Given the description of an element on the screen output the (x, y) to click on. 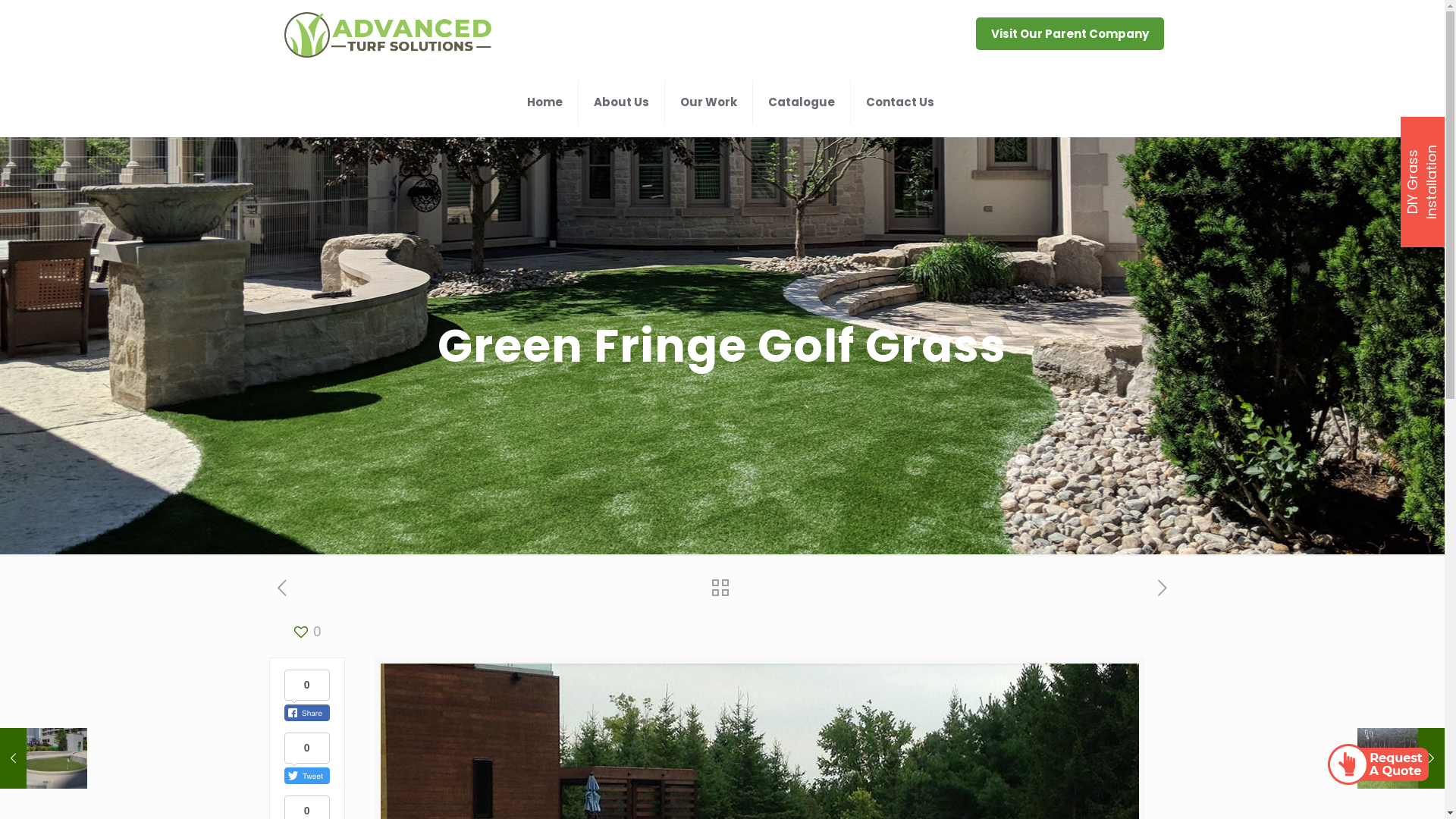
Our Work Element type: text (709, 102)
Advanced Turf Solutions Element type: hover (387, 34)
Website Design Toronto Element type: text (673, 787)
Contact Us Element type: text (899, 102)
Catalogue Element type: text (801, 102)
0 Element type: text (306, 631)
Visit Our Parent Company Element type: text (1069, 33)
About Us Element type: text (621, 102)
Home Element type: text (544, 102)
